Given the description of an element on the screen output the (x, y) to click on. 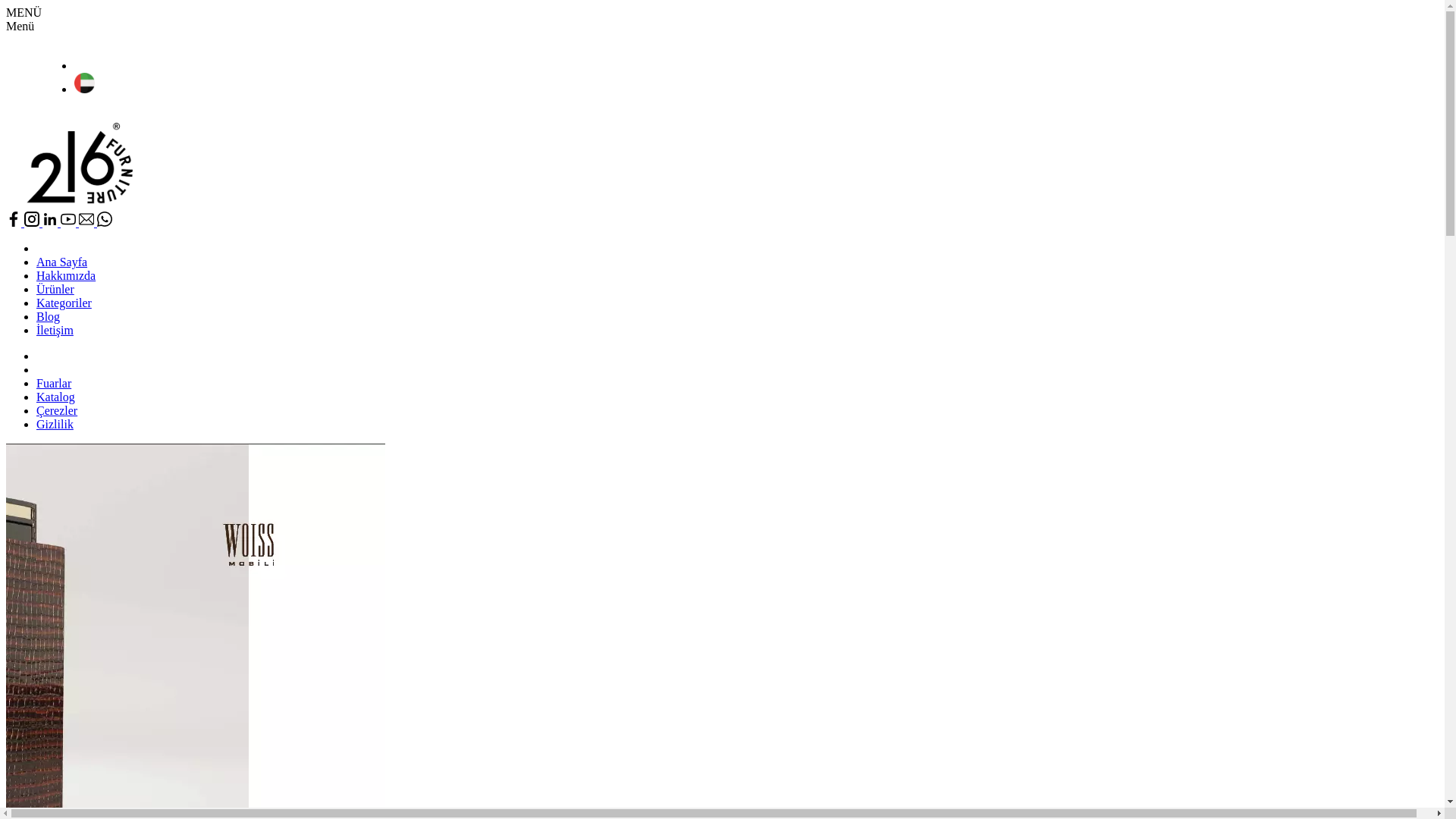
Katalog Element type: text (55, 396)
Fuarlar Element type: text (53, 382)
Kategoriler Element type: text (63, 302)
Ana Sayfa Element type: text (61, 261)
Blog Element type: text (47, 316)
Gizlilik Element type: text (54, 423)
